Given the description of an element on the screen output the (x, y) to click on. 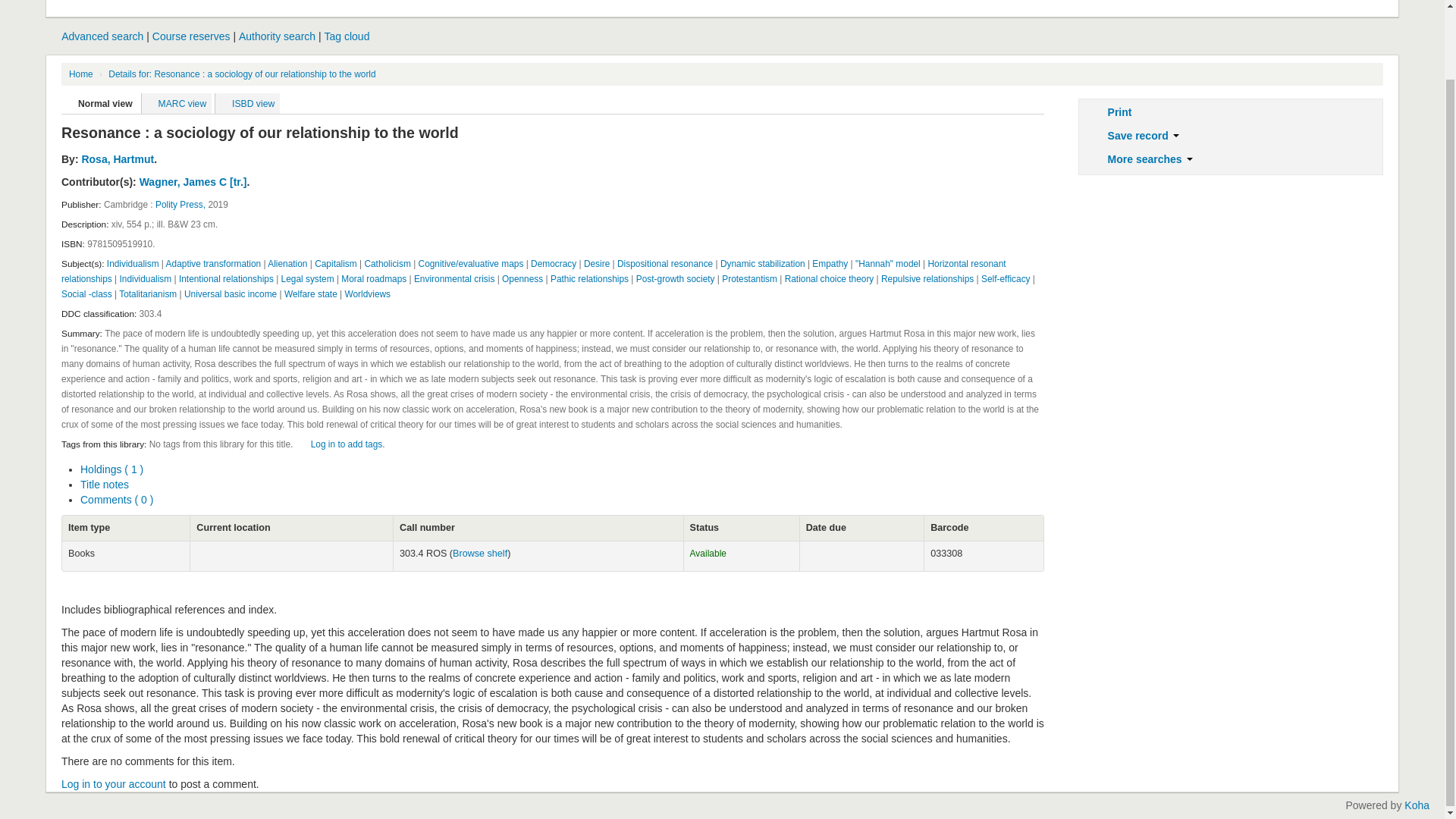
Individualism (145, 278)
Adaptive transformation (213, 263)
Pathic relationships (589, 278)
Tag cloud (346, 36)
Empathy (829, 263)
Course reserves (191, 36)
Rosa, Hartmut (117, 159)
Intentional relationships (226, 278)
Home (80, 73)
